Given the description of an element on the screen output the (x, y) to click on. 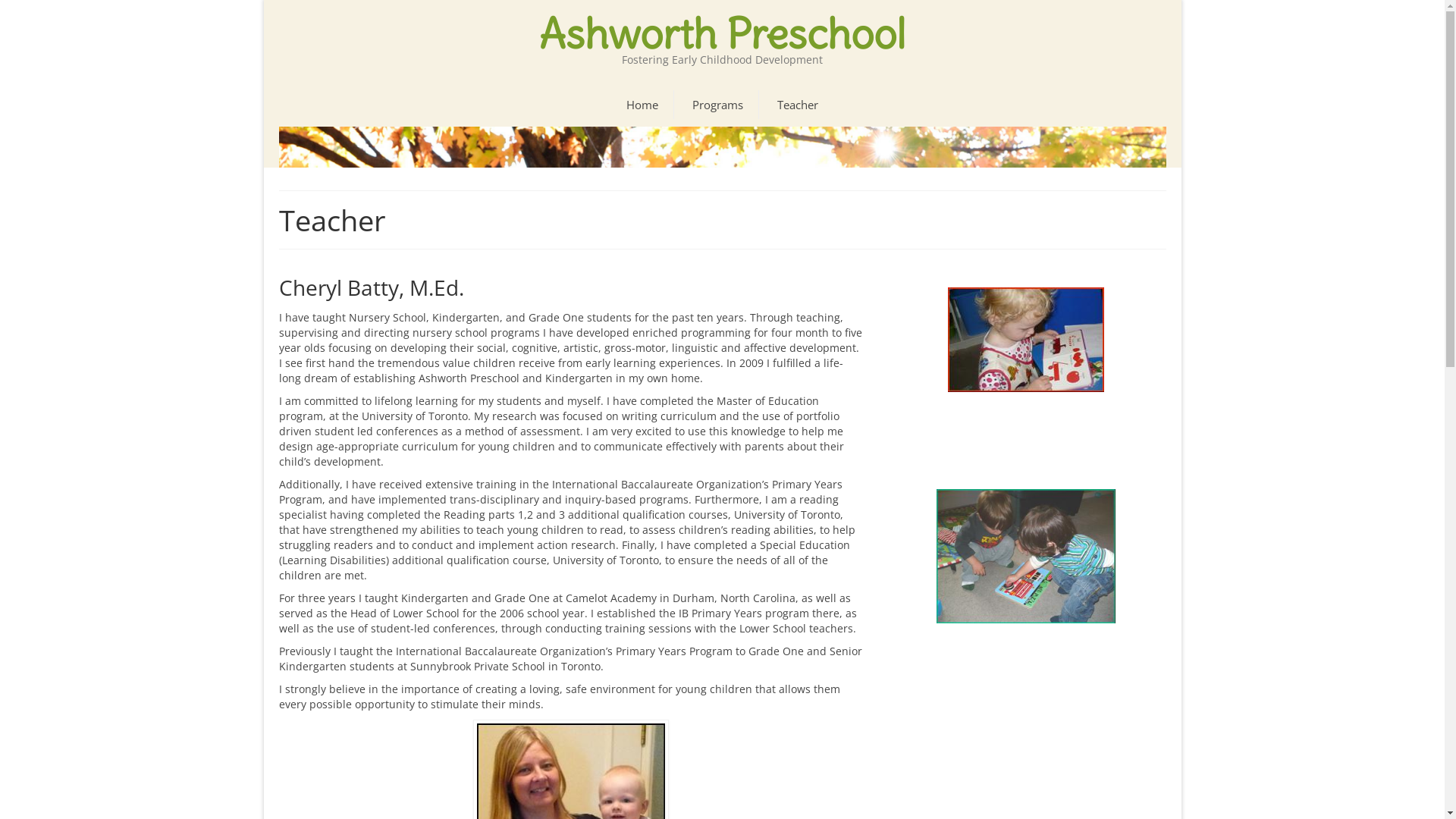
Teacher Element type: text (797, 104)
Ashworth Preschool Element type: text (722, 33)
Home Element type: text (642, 104)
Programs Element type: text (717, 104)
